Given the description of an element on the screen output the (x, y) to click on. 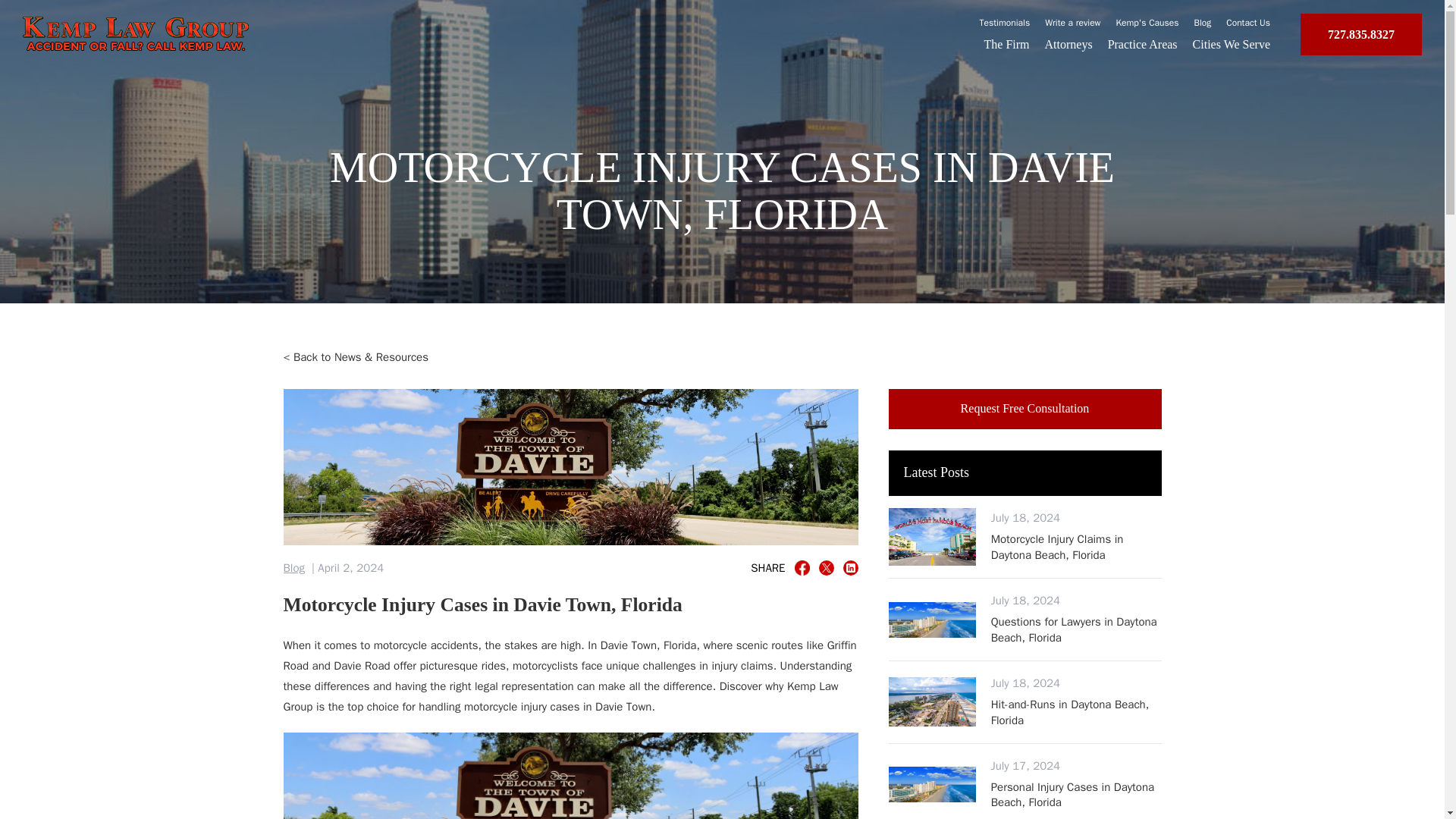
Motorcycle Injury Claims in Daytona Beach, Florida (1024, 408)
The Firm (1076, 546)
Attorneys (1006, 43)
Share in Facebook (1069, 43)
Blog (801, 567)
Kemp's Causes (293, 568)
Contact Us (1147, 22)
Latest Posts (1247, 22)
Hit-and-Runs in Daytona Beach, Florida (1024, 473)
Cities We Serve (1076, 712)
Write a review (1230, 43)
727.835.8327 (1072, 22)
Blog (1361, 34)
Personal Injury Cases in Daytona Beach, Florida (1202, 22)
